Given the description of an element on the screen output the (x, y) to click on. 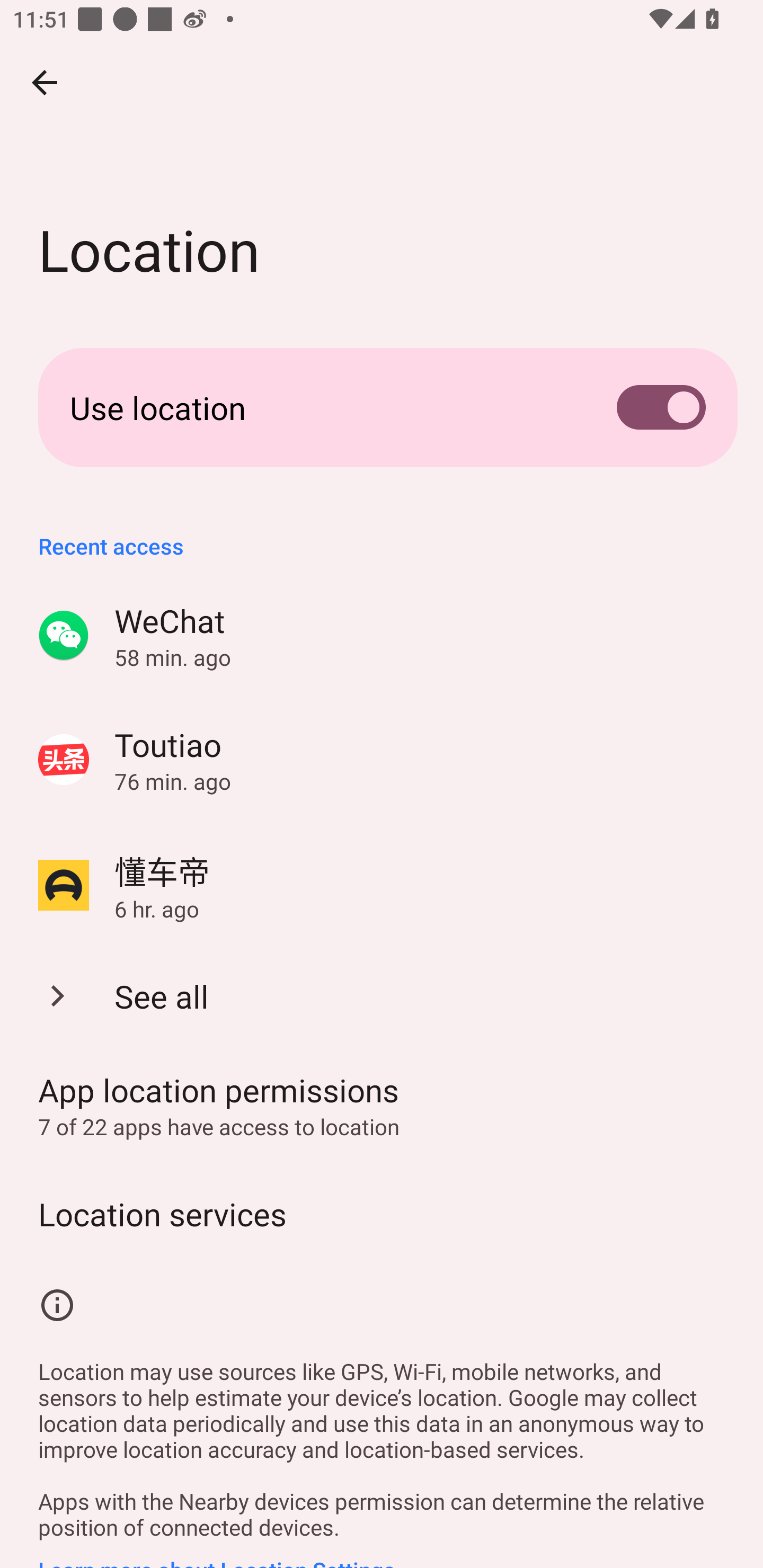
Navigate up (44, 82)
Use location (381, 407)
WeChat 58 min. ago (381, 635)
Toutiao 76 min. ago (381, 759)
懂车帝 6 hr. ago (381, 884)
See all (381, 995)
Location services (381, 1213)
